Given the description of an element on the screen output the (x, y) to click on. 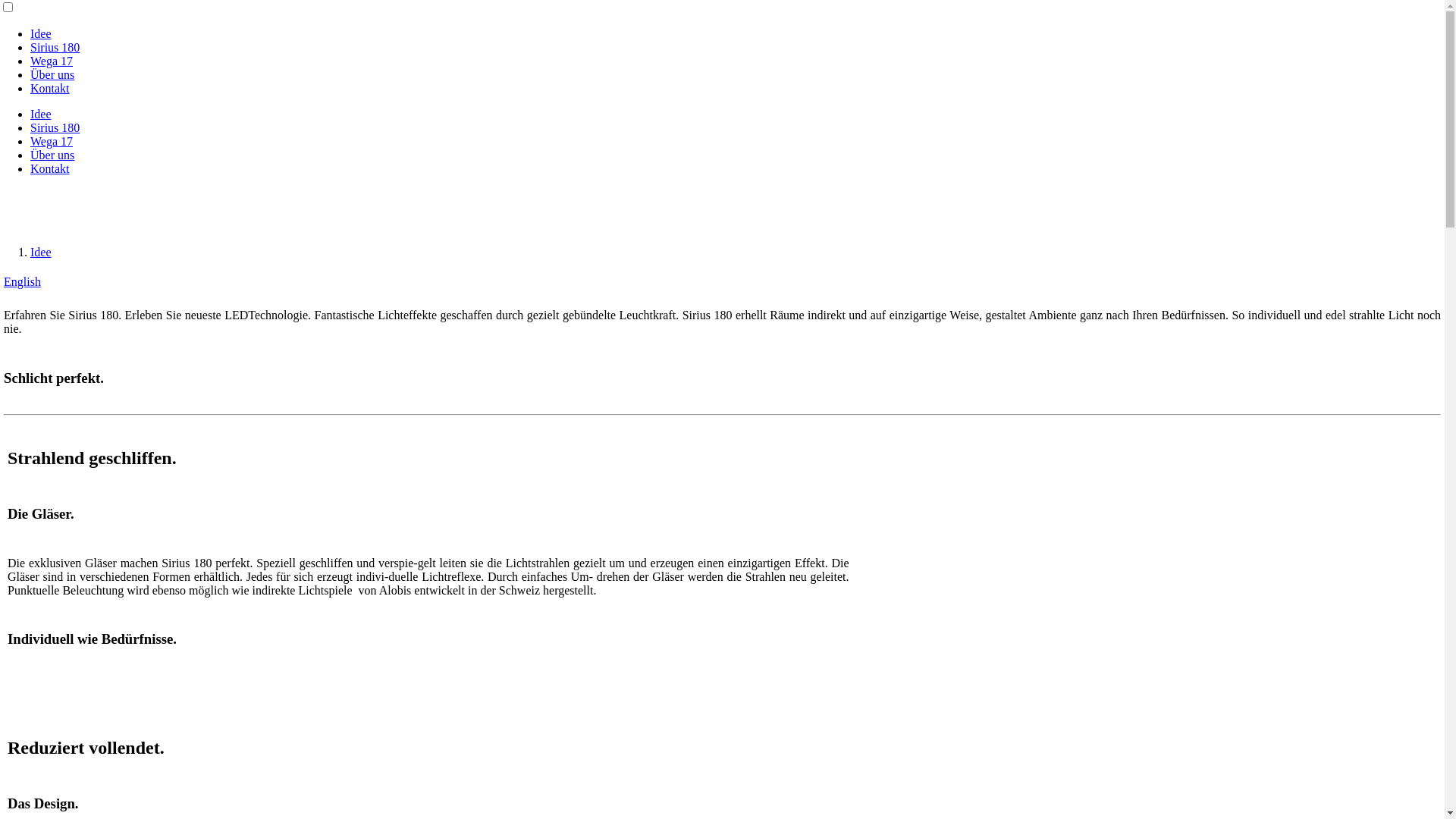
Sirius 180 Element type: text (54, 127)
Sirius 180 Element type: text (54, 46)
Wega 17 Element type: text (51, 60)
Idee Element type: text (40, 33)
Kontakt Element type: text (49, 168)
Idee Element type: text (40, 251)
Idee Element type: text (40, 113)
Kontakt Element type: text (49, 87)
English Element type: text (21, 281)
Wega 17 Element type: text (51, 140)
